Given the description of an element on the screen output the (x, y) to click on. 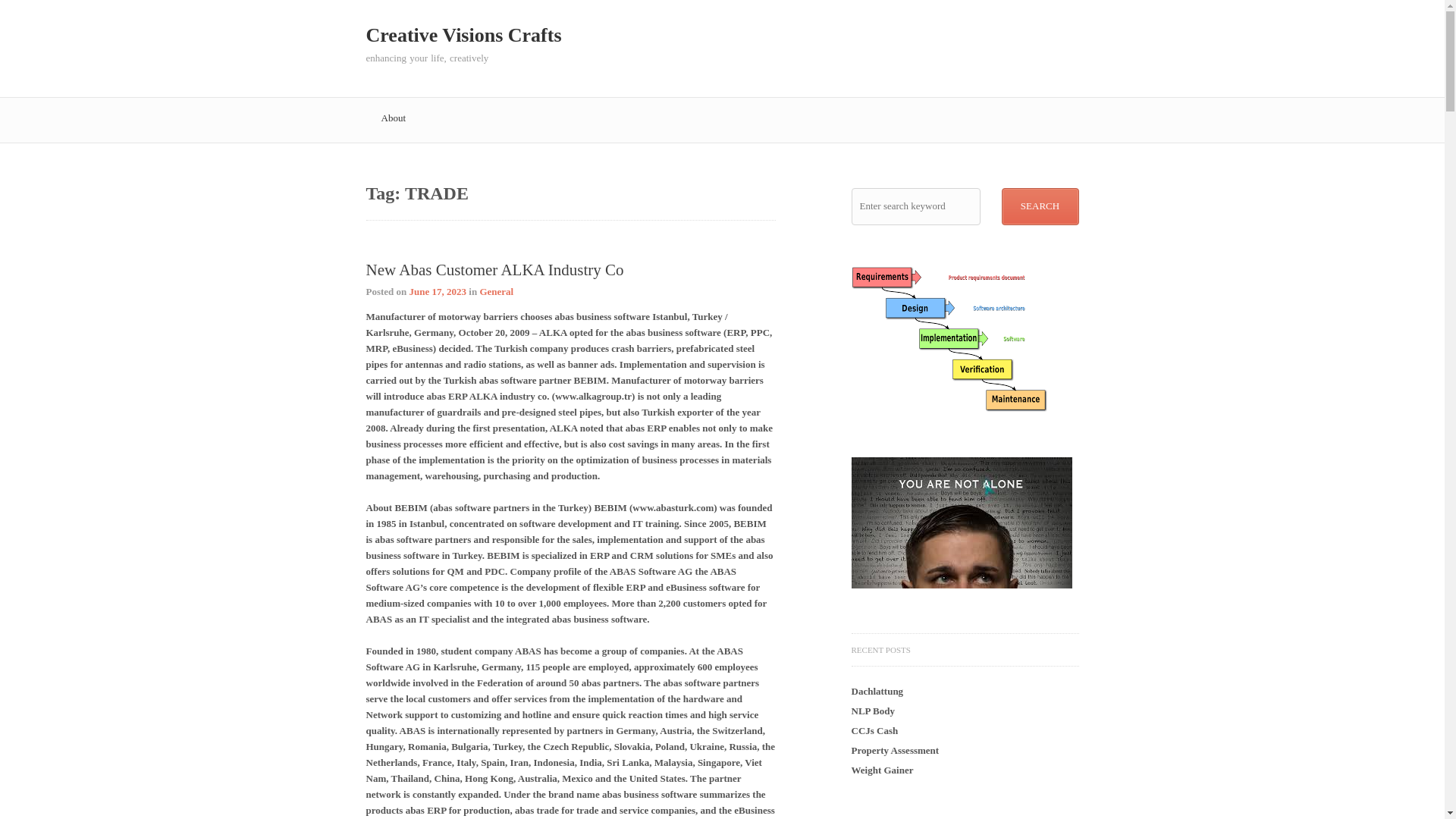
Creative Visions Crafts (462, 34)
General (496, 291)
About (392, 120)
New Abas Customer ALKA Industry Co (494, 270)
Creative Visions Crafts (462, 34)
June 17, 2023 (437, 291)
New Abas Customer ALKA Industry Co (437, 291)
Search (1039, 206)
